Given the description of an element on the screen output the (x, y) to click on. 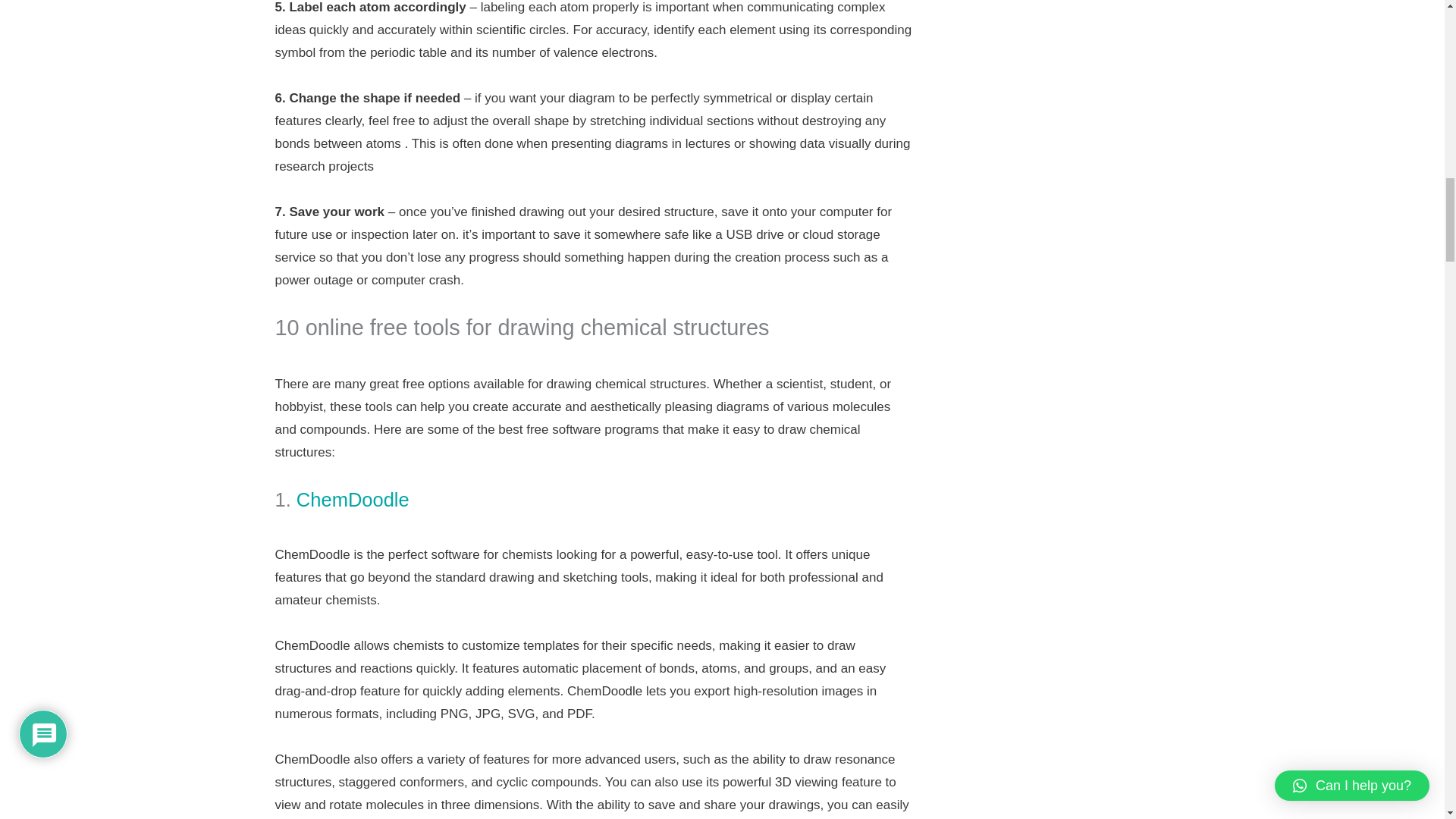
ChemDoodle (353, 499)
